Given the description of an element on the screen output the (x, y) to click on. 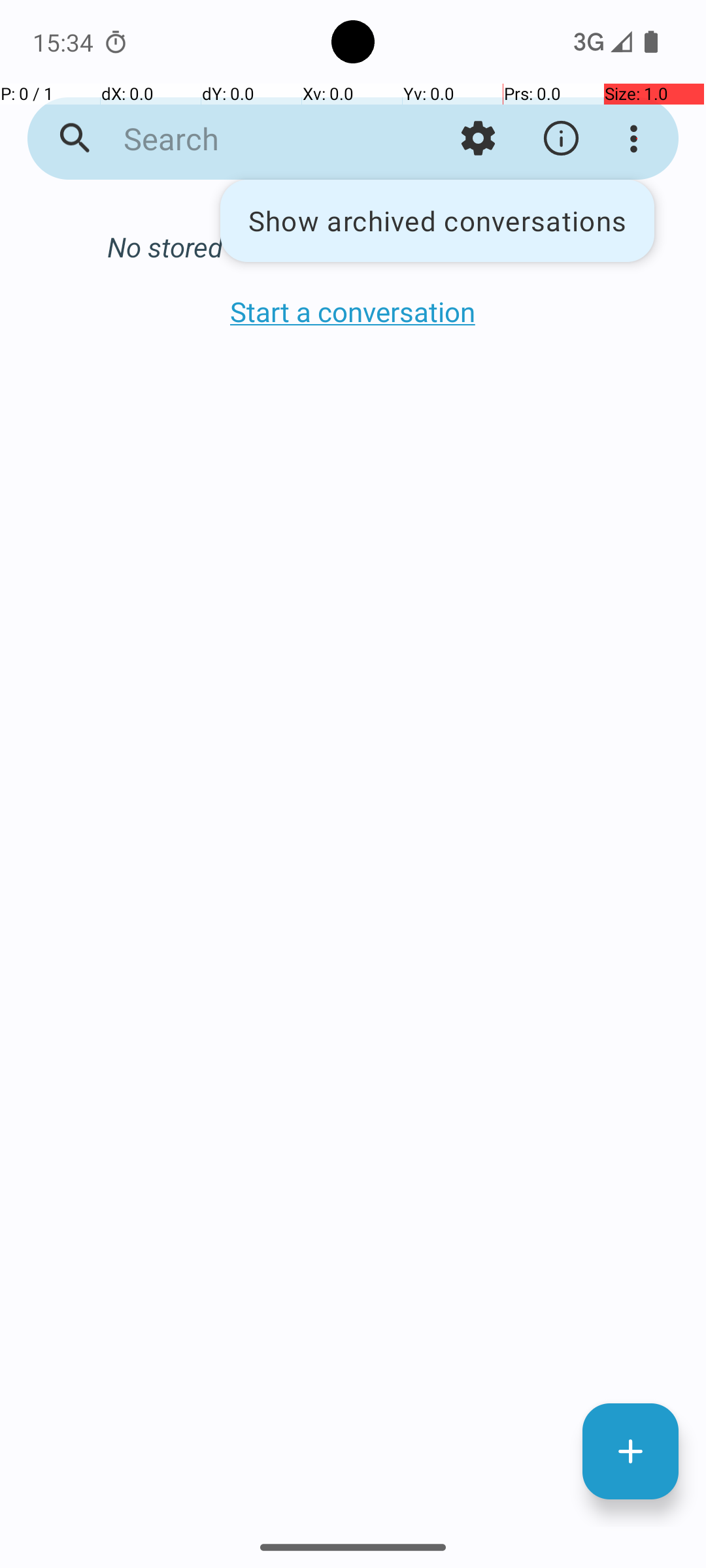
Show archived conversations Element type: android.widget.TextView (436, 220)
